Given the description of an element on the screen output the (x, y) to click on. 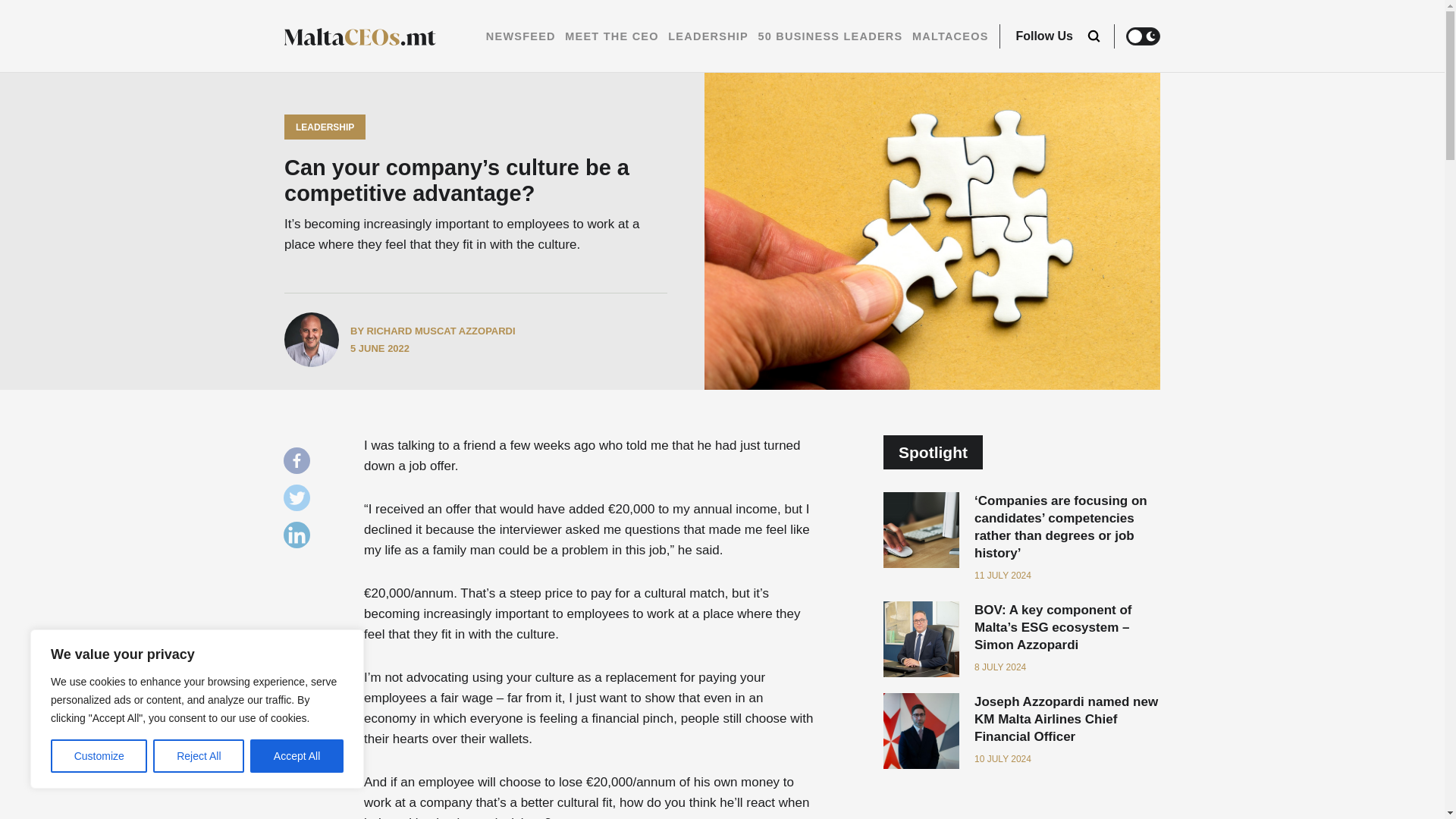
Accept All (296, 756)
LEADERSHIP (708, 36)
Linkedin (300, 538)
MEET THE CEO (611, 36)
Facebook (300, 464)
NEWSFEED (521, 36)
Twitter (300, 501)
50 BUSINESS LEADERS (829, 36)
Customize (98, 756)
Reject All (198, 756)
MALTACEOS (950, 36)
